Given the description of an element on the screen output the (x, y) to click on. 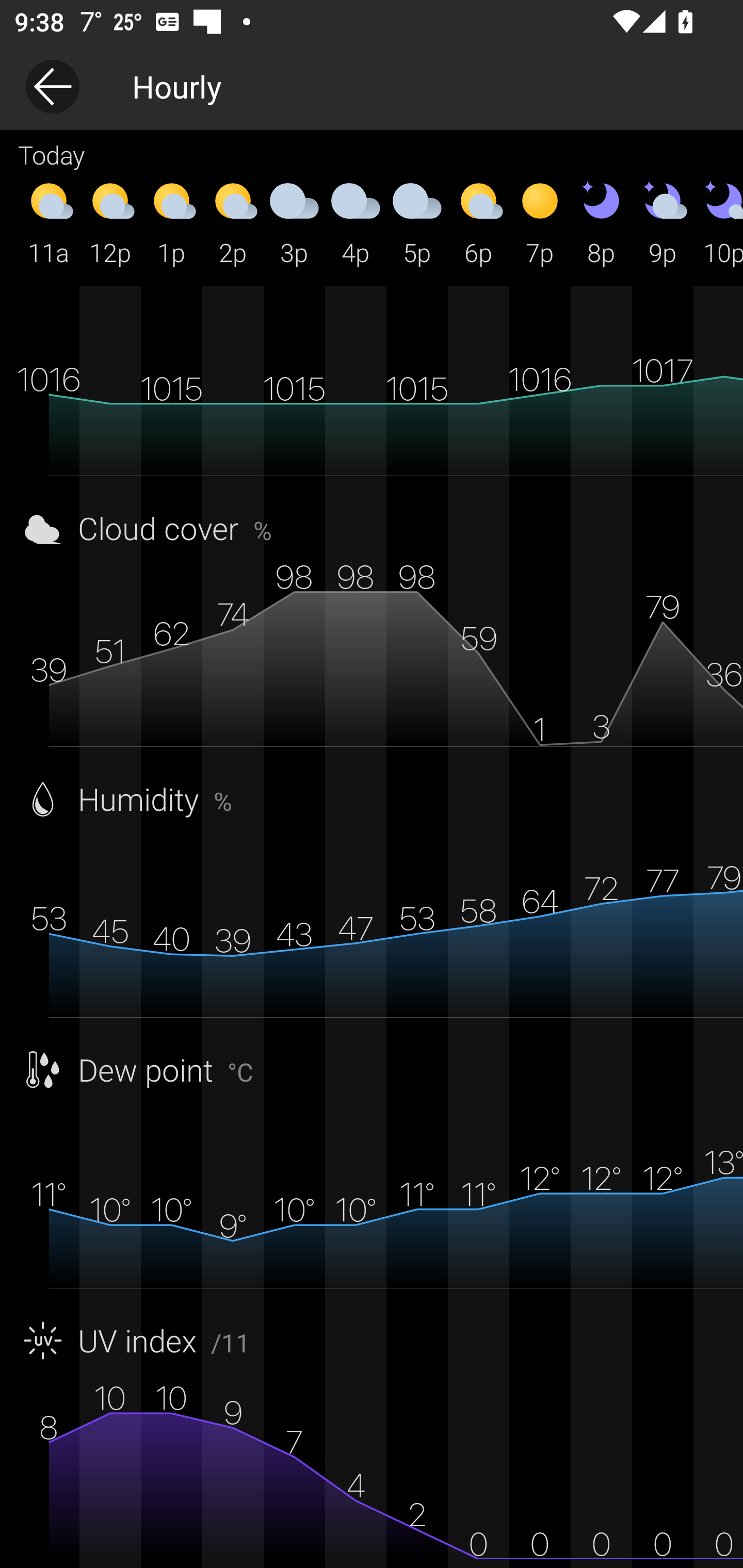
11a (48, 222)
12p (110, 222)
1p (171, 222)
2p (232, 222)
3p (294, 222)
4p (355, 222)
5p (417, 222)
6p (478, 222)
7p (539, 222)
8p (601, 222)
9p (662, 222)
10p (718, 222)
